Given the description of an element on the screen output the (x, y) to click on. 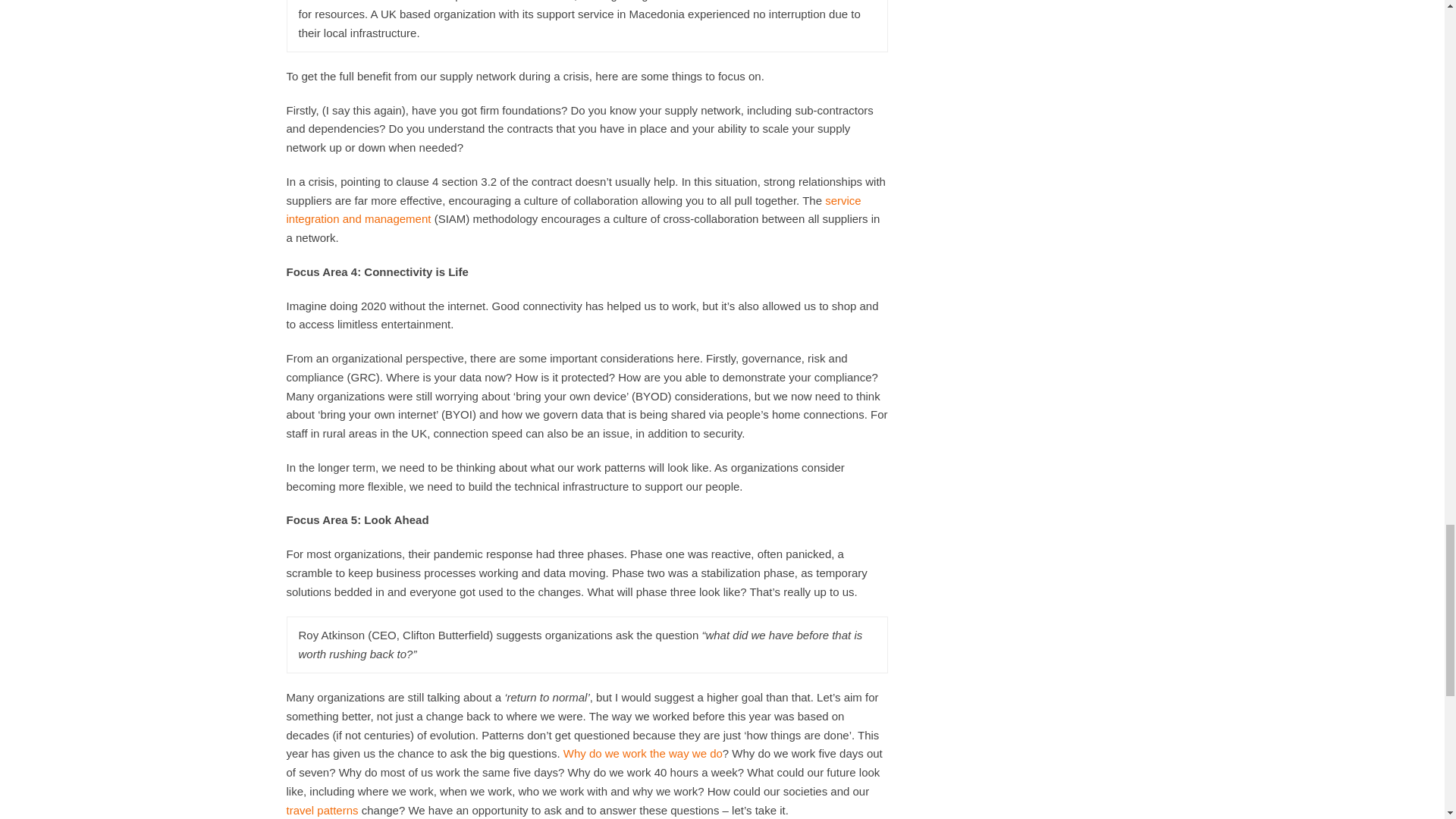
Link opens in new window (573, 210)
